Given the description of an element on the screen output the (x, y) to click on. 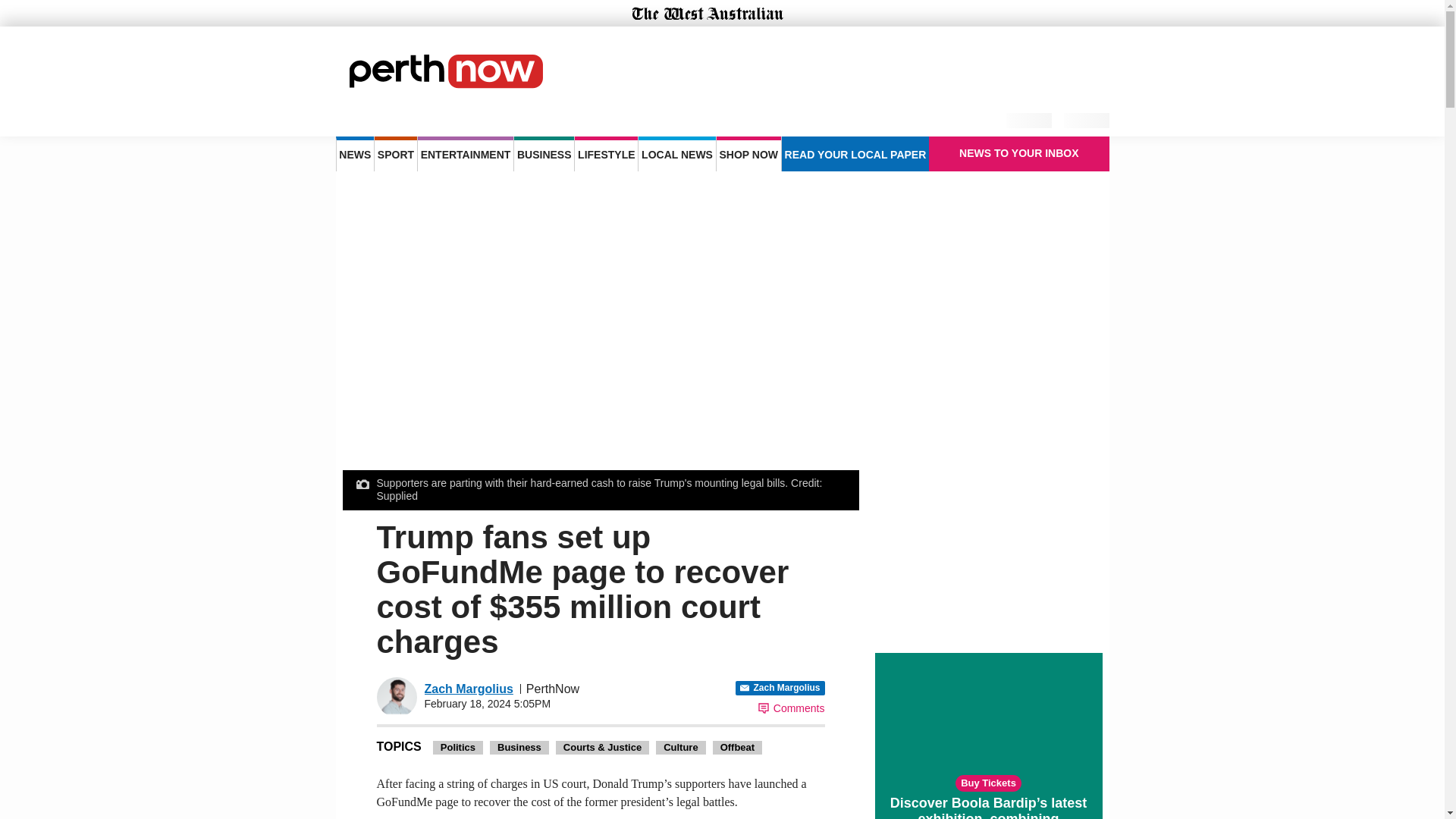
SPORT (395, 153)
BUSINESS (543, 153)
ENTERTAINMENT (465, 153)
NEWS (354, 153)
